Given the description of an element on the screen output the (x, y) to click on. 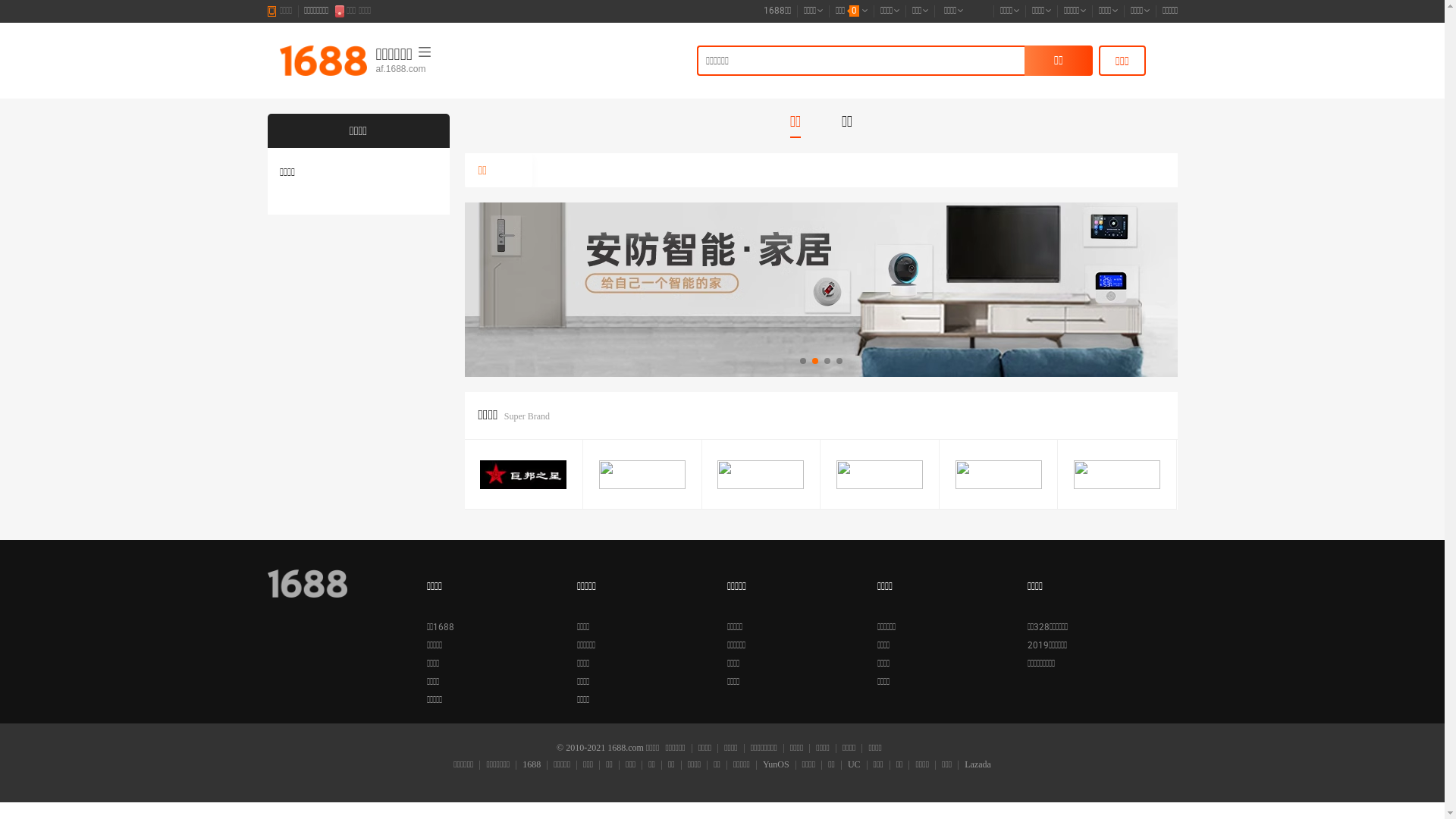
1688 Element type: text (530, 764)
YunOS Element type: text (775, 764)
af.1688.com Element type: text (451, 69)
UC Element type: text (853, 764)
Lazada Element type: text (977, 764)
